Given the description of an element on the screen output the (x, y) to click on. 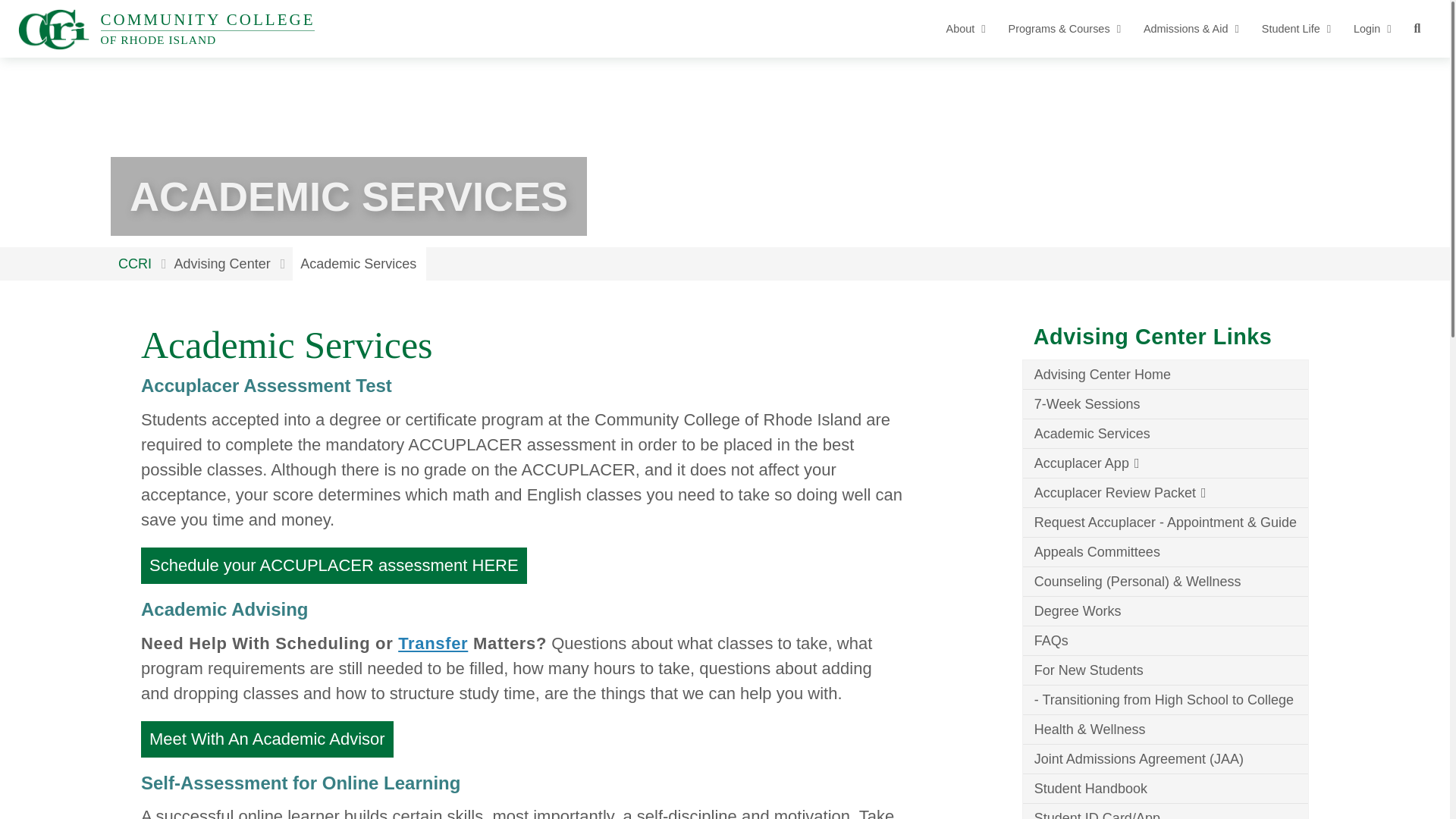
Skip to Main Content (10, 11)
Schedule your ACCUPLACER assessment HERE (166, 29)
Meet With An Academic Advisor (334, 565)
About (267, 739)
